Given the description of an element on the screen output the (x, y) to click on. 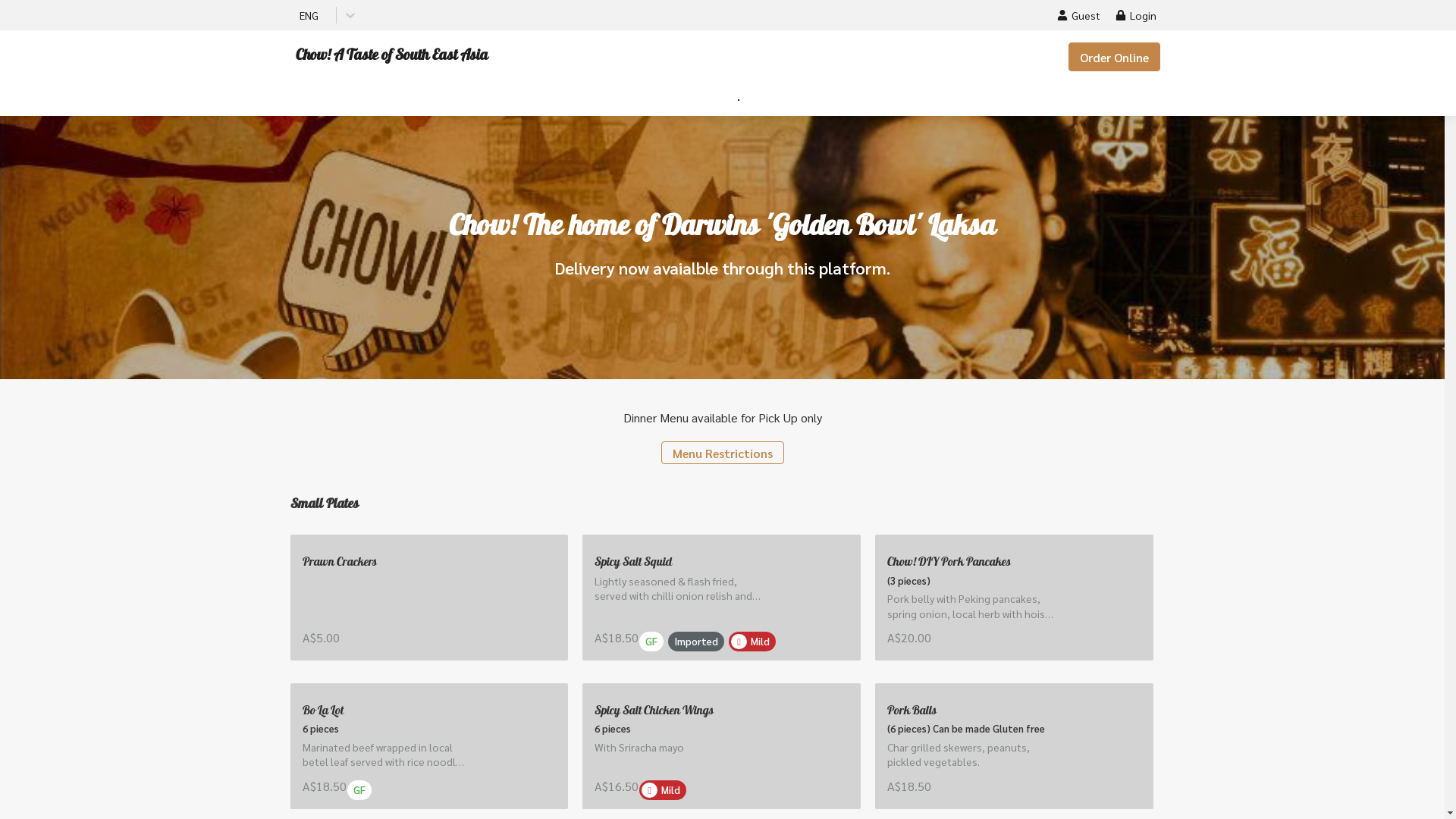
Menu Restrictions Element type: text (722, 452)
Order Online Element type: text (1114, 56)
